Given the description of an element on the screen output the (x, y) to click on. 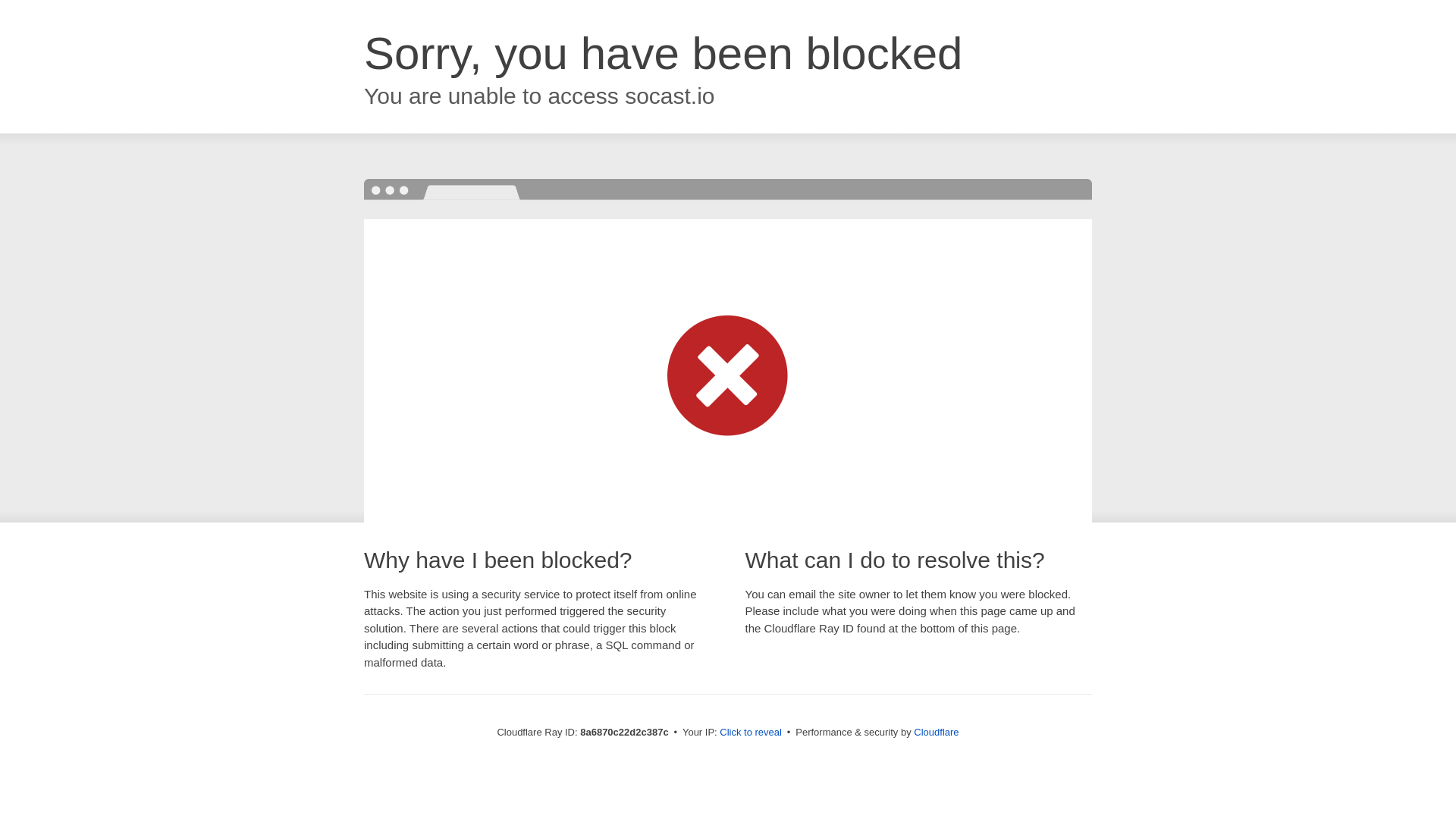
Click to reveal (750, 732)
Cloudflare (936, 731)
